Given the description of an element on the screen output the (x, y) to click on. 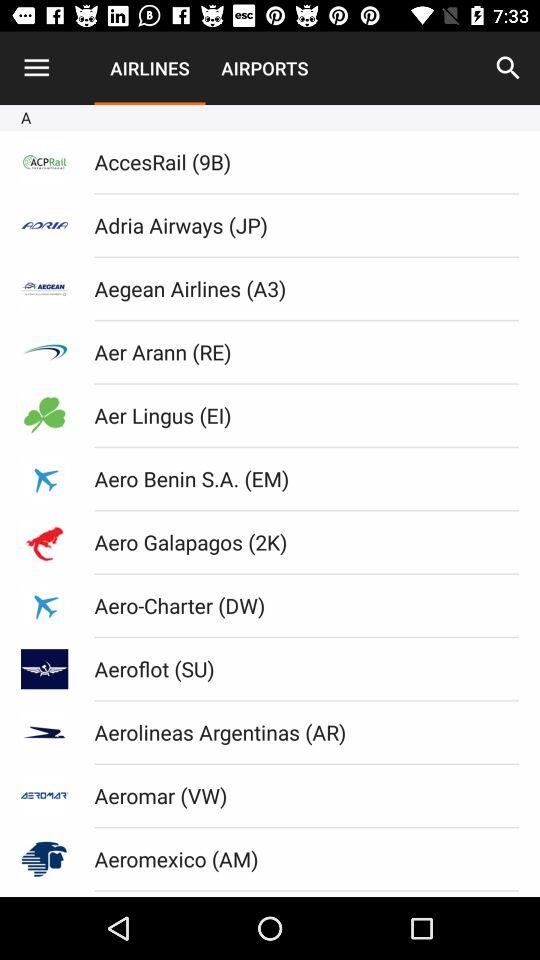
go to the logo which is right side to aeromar vw (44, 795)
select the icon beside airports (508, 68)
select first icon under the letter a (44, 162)
select third image from bottom (44, 732)
click on the text below acprail (44, 225)
select the symbol of aeromexicoam (44, 859)
